Given the description of an element on the screen output the (x, y) to click on. 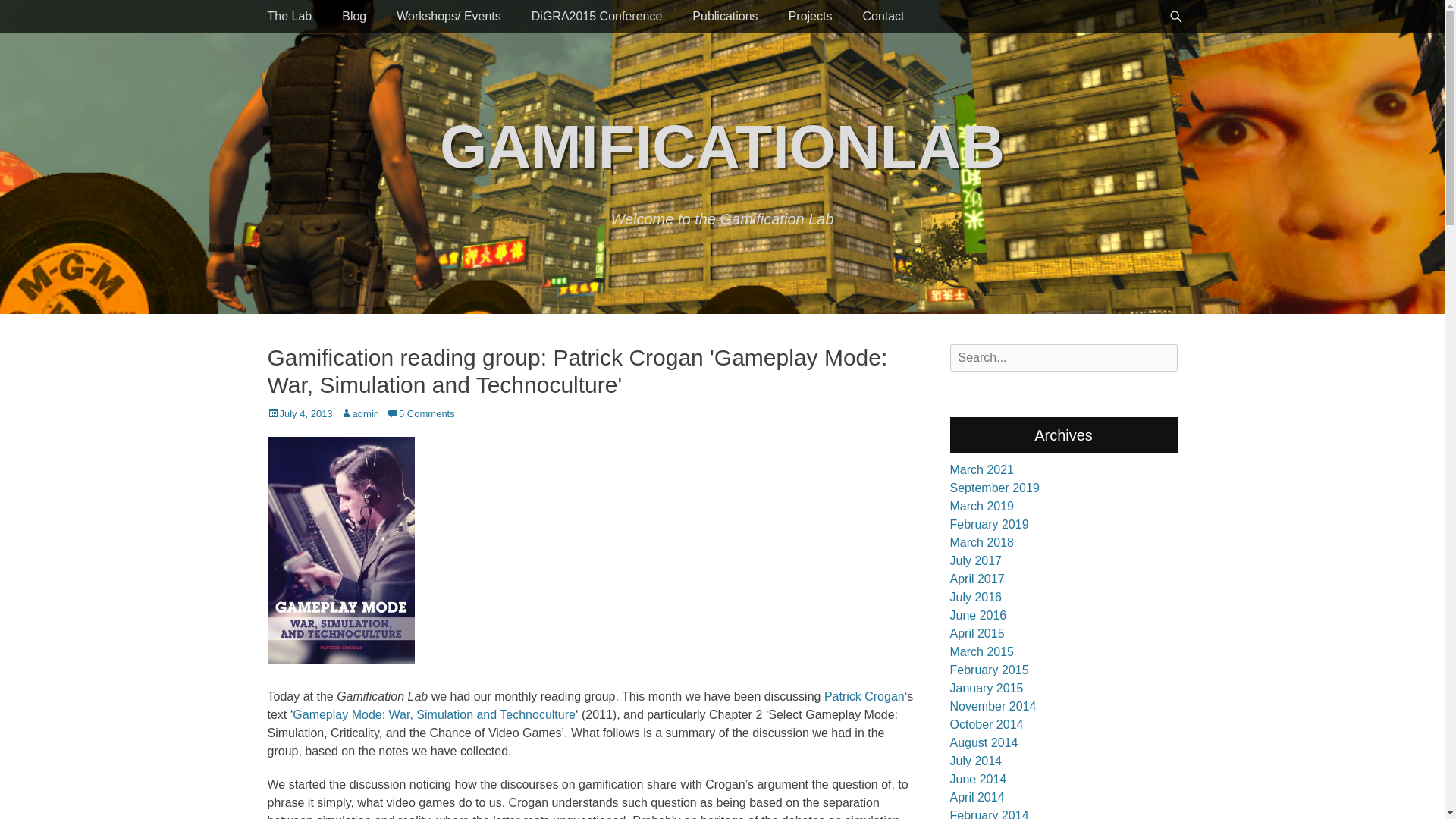
5 Comments (420, 413)
Contact (882, 16)
DiGRA2015 Conference (597, 16)
Projects (810, 16)
Patrick Crogan (864, 696)
Blog (353, 16)
Gameplay Mode: War, Simulation and Technoculture (433, 714)
Search for: (1062, 357)
July 4, 2013 (298, 413)
Publications (725, 16)
GAMIFICATIONLAB (721, 146)
The Lab (288, 16)
admin (359, 413)
